Given the description of an element on the screen output the (x, y) to click on. 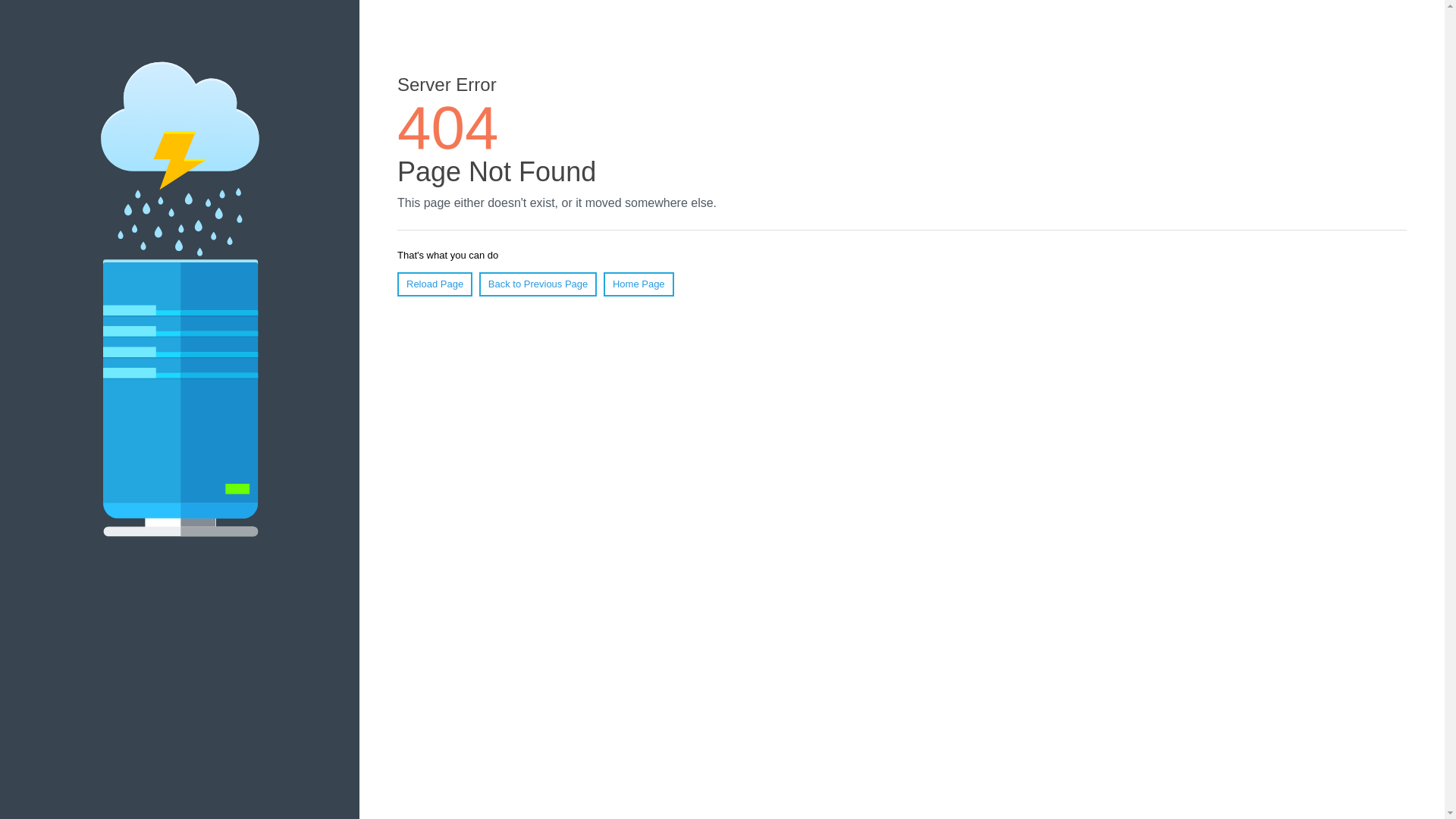
Reload Page (434, 283)
Back to Previous Page (537, 283)
Home Page (639, 283)
